Given the description of an element on the screen output the (x, y) to click on. 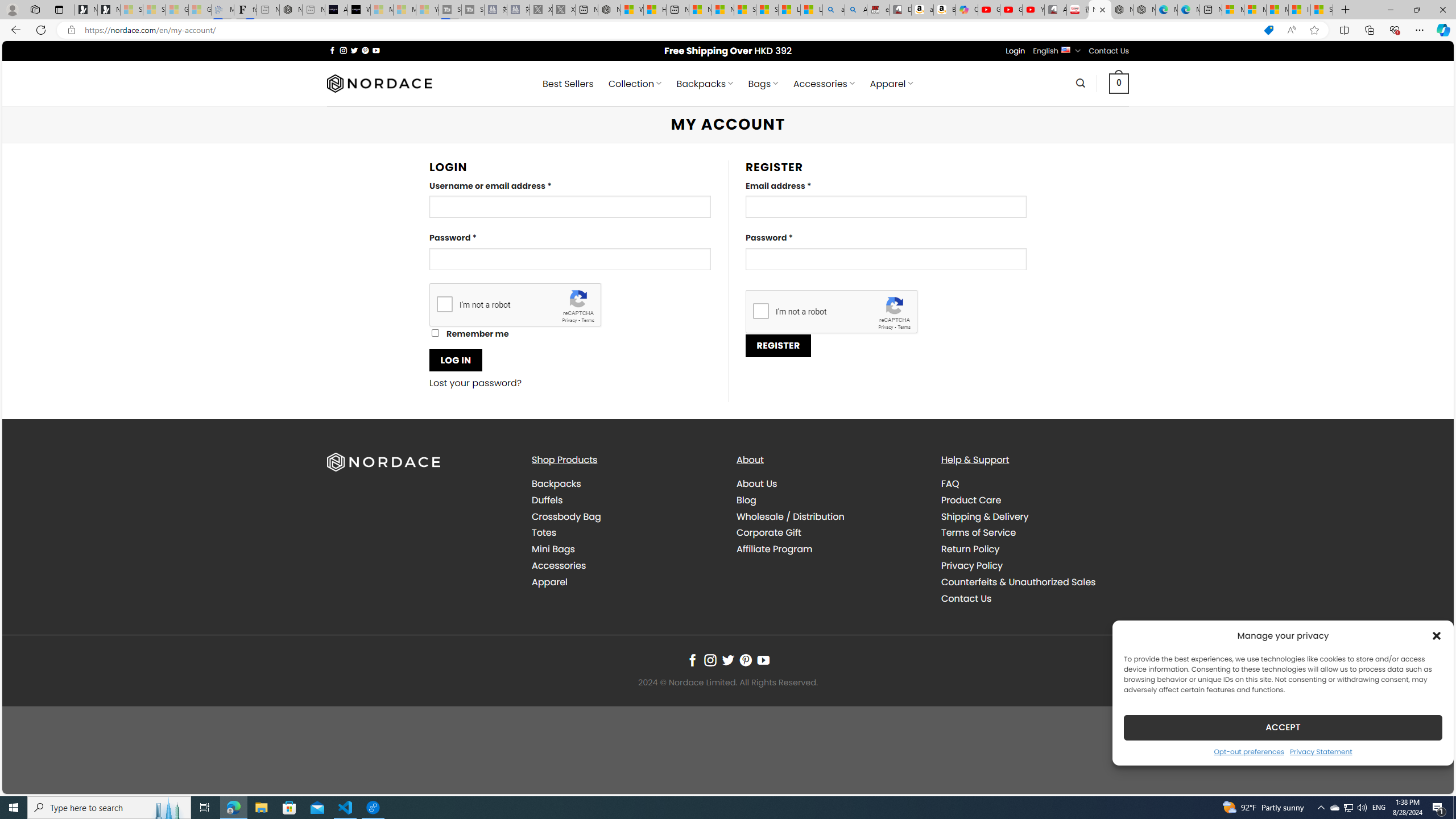
Counterfeits & Unauthorized Sales (1018, 581)
Remember me (434, 333)
Duffels (547, 499)
Terms (903, 326)
Crossbody Bag (566, 516)
ACCEPT (1283, 727)
Corporate Gift (768, 532)
